Given the description of an element on the screen output the (x, y) to click on. 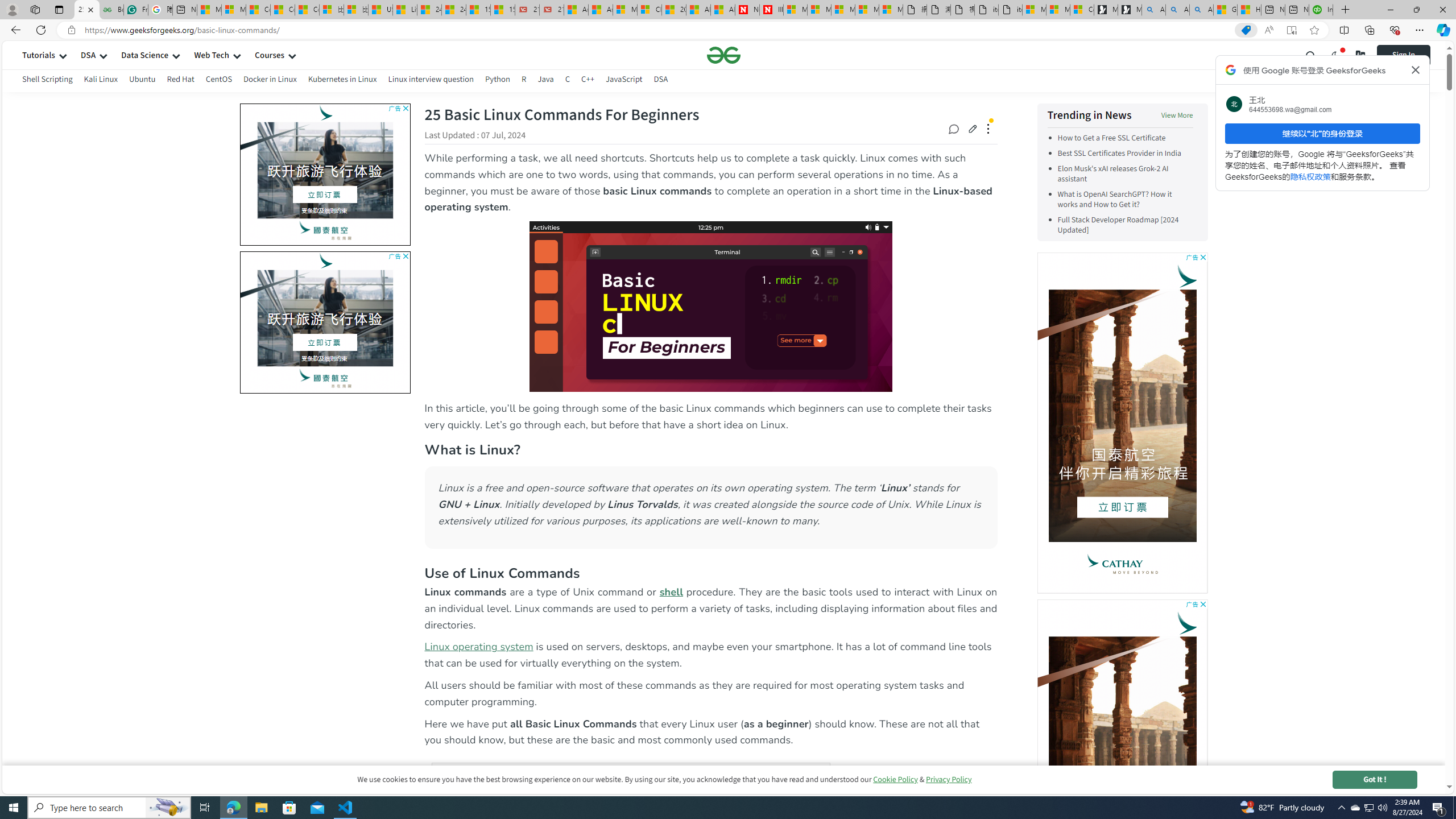
What is OpenAI SearchGPT? How it works and How to Get it? (1125, 199)
Kubernetes in Linux (341, 79)
Kali Linux (100, 80)
Logo (723, 54)
AutomationID: wheel (237, 250)
Python (497, 80)
Basic Linux Commands (710, 306)
Kali Linux (100, 79)
Elon Musk's xAI releases Grok-2 AI assistant (1113, 173)
